Given the description of an element on the screen output the (x, y) to click on. 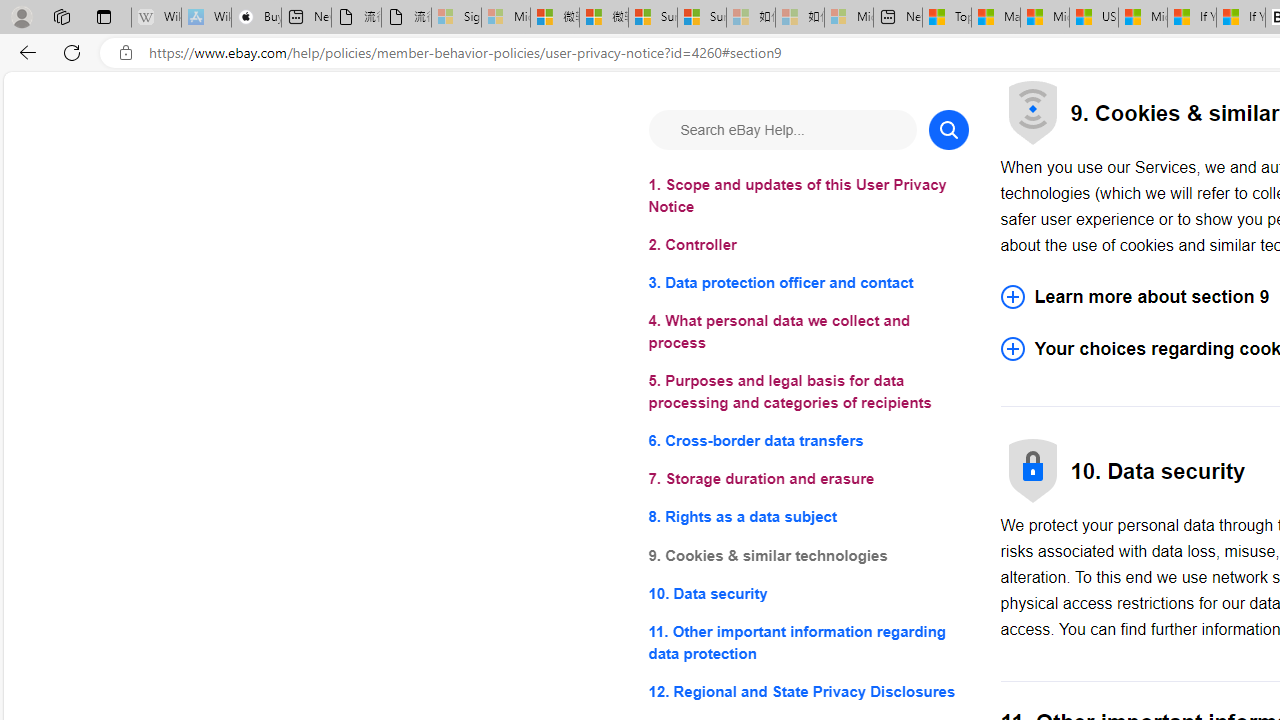
8. Rights as a data subject (807, 517)
9. Cookies & similar technologies (807, 555)
2. Controller (807, 245)
12. Regional and State Privacy Disclosures (807, 690)
Marine life - MSN (995, 17)
9. Cookies & similar technologies (807, 555)
7. Storage duration and erasure (807, 479)
4. What personal data we collect and process (807, 332)
Microsoft account | Account Checkup - Sleeping (848, 17)
3. Data protection officer and contact (807, 283)
2. Controller (807, 245)
